Given the description of an element on the screen output the (x, y) to click on. 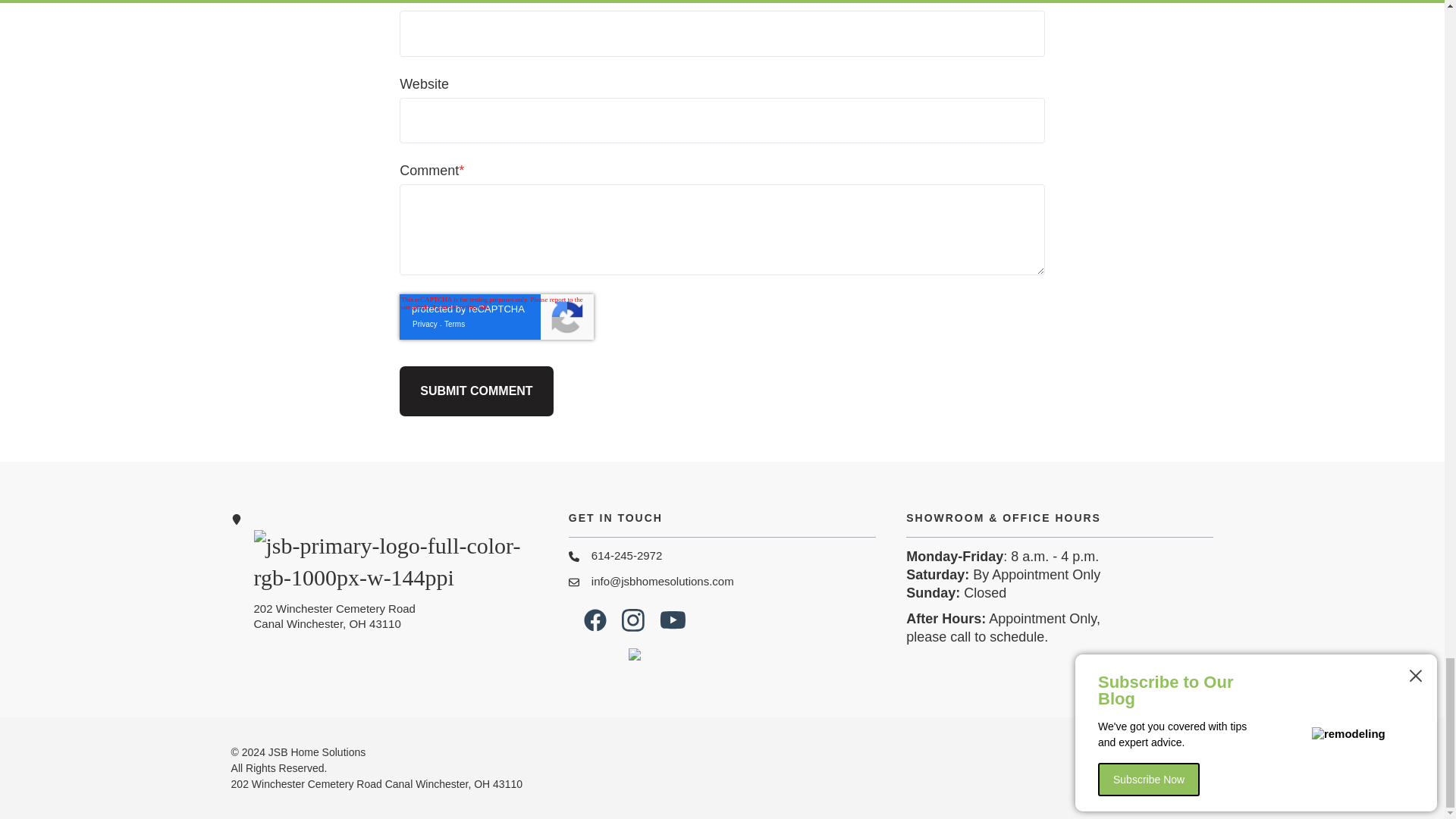
reCAPTCHA (496, 316)
Submit Comment (475, 391)
